Given the description of an element on the screen output the (x, y) to click on. 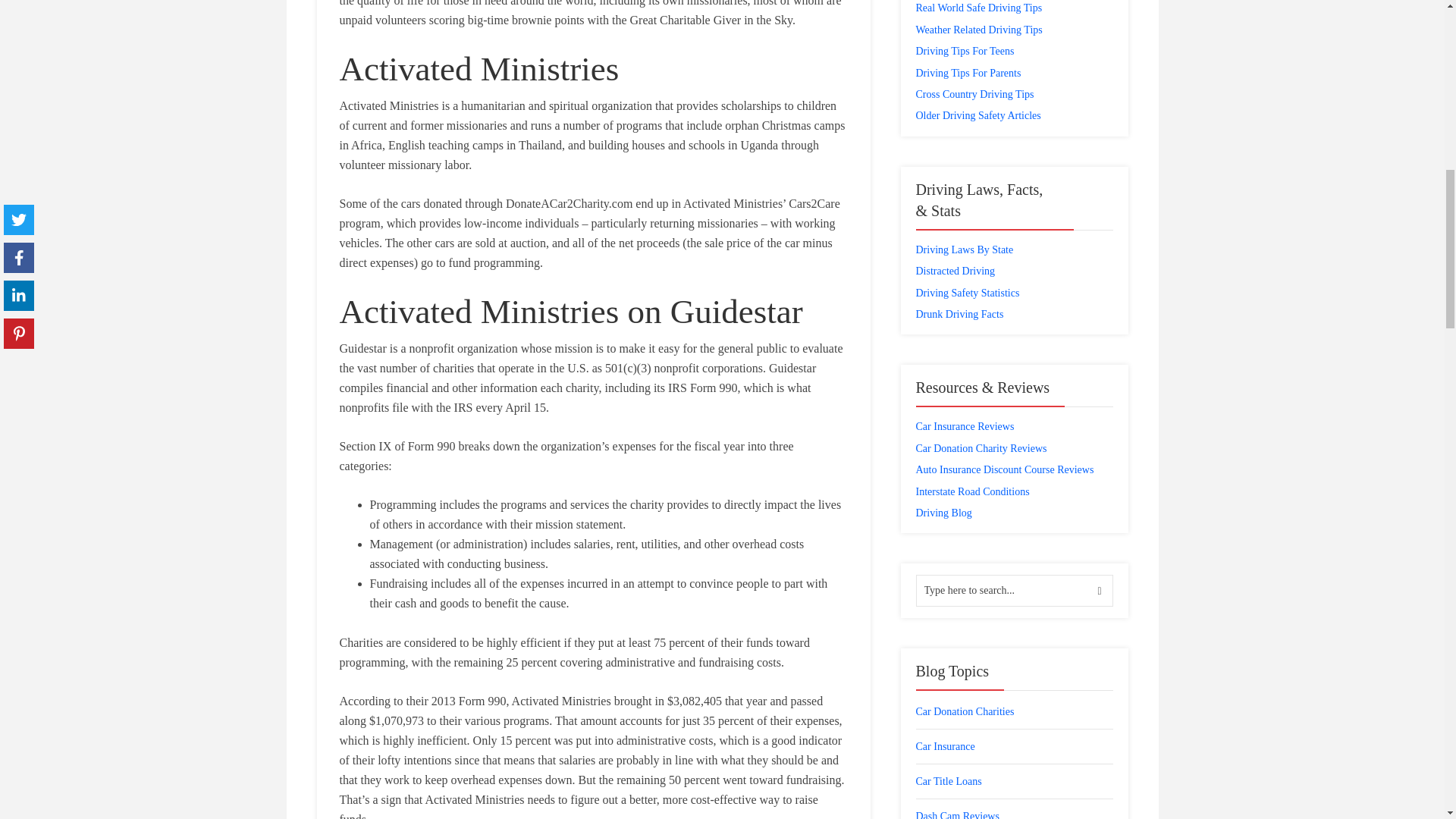
Type here to search... (1014, 590)
Type here to search... (1014, 590)
